Given the description of an element on the screen output the (x, y) to click on. 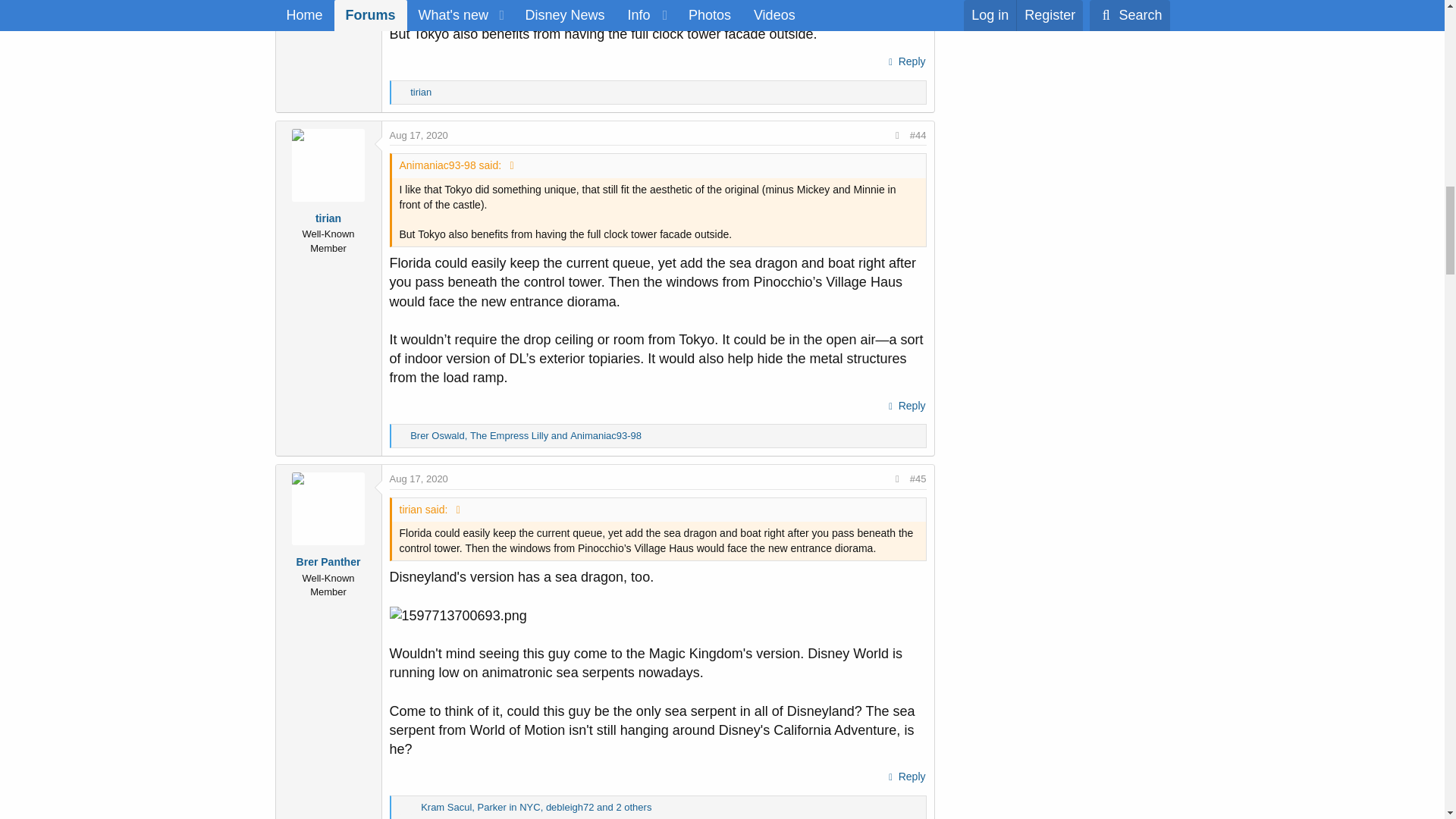
Like (401, 807)
Like (401, 92)
Love (412, 807)
Aug 17, 2020 at 8:22 PM (419, 134)
1597713700693.png (458, 615)
Reply, quoting this message (905, 776)
Reply, quoting this message (905, 405)
Like (401, 435)
Reply, quoting this message (905, 61)
Aug 17, 2020 at 9:22 PM (419, 478)
